Given the description of an element on the screen output the (x, y) to click on. 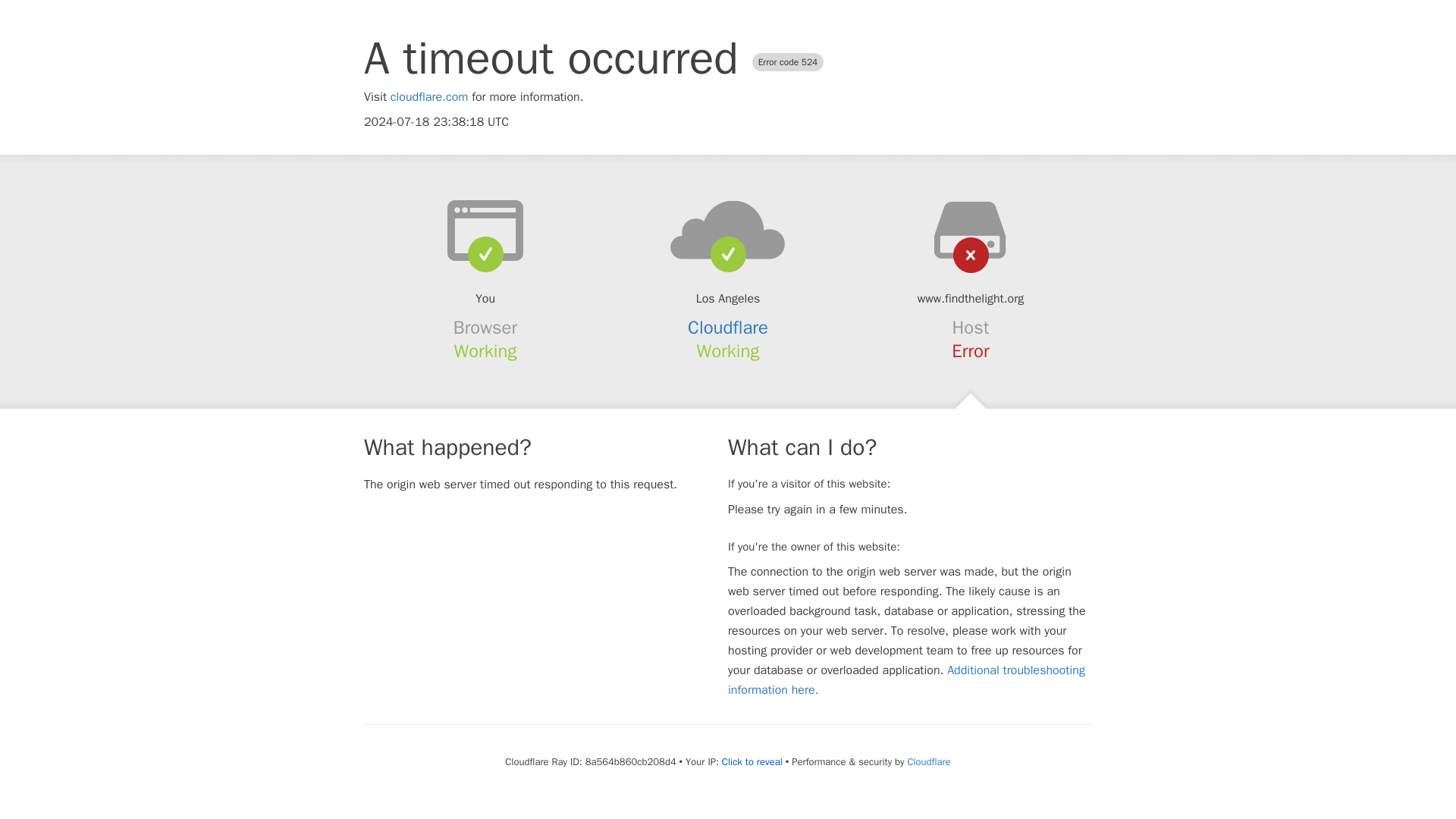
cloudflare.com (429, 96)
Additional troubleshooting information here. (906, 679)
Click to reveal (752, 762)
Cloudflare (928, 761)
Cloudflare (727, 327)
